Given the description of an element on the screen output the (x, y) to click on. 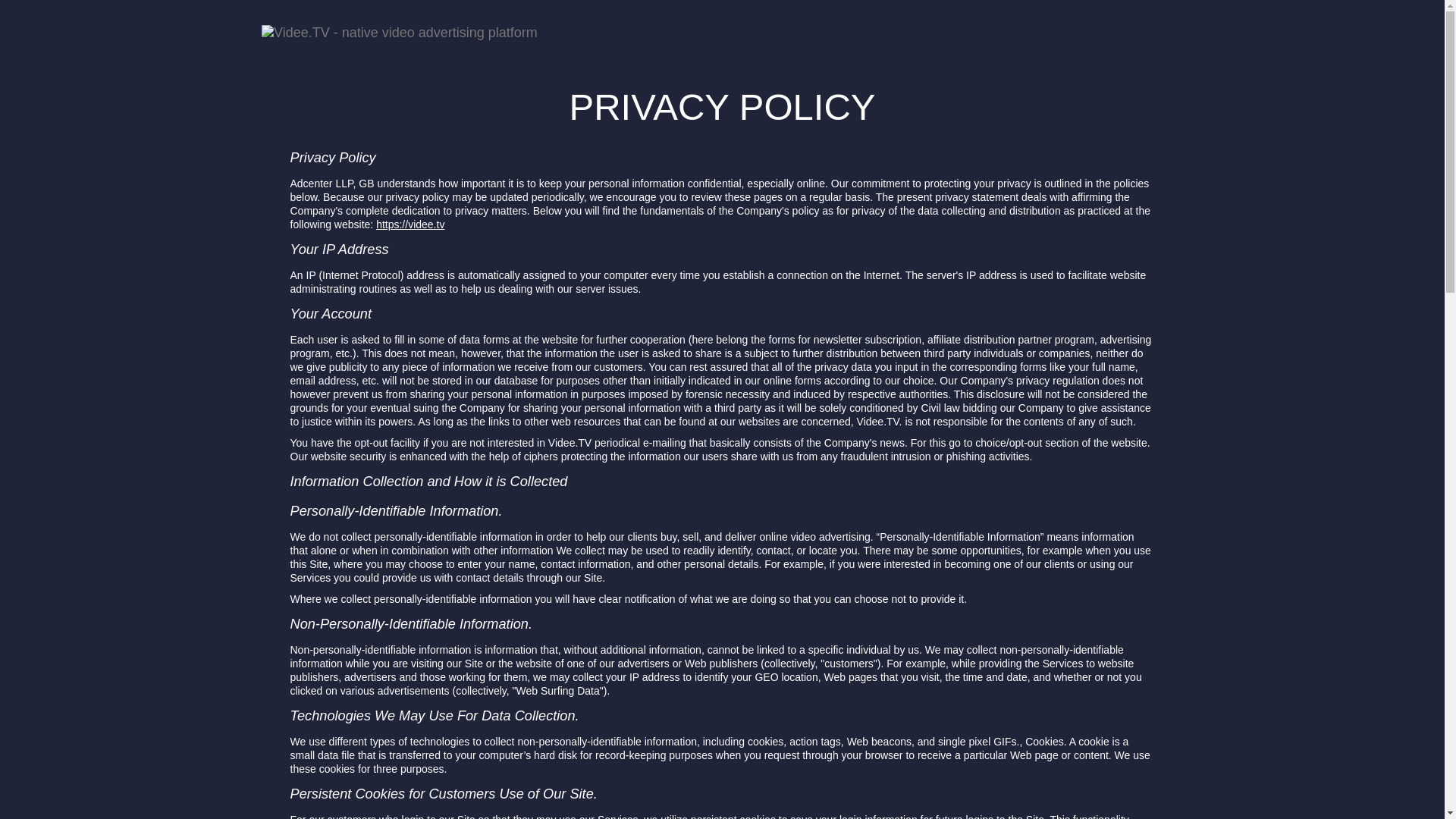
Videe.TV (399, 18)
